Given the description of an element on the screen output the (x, y) to click on. 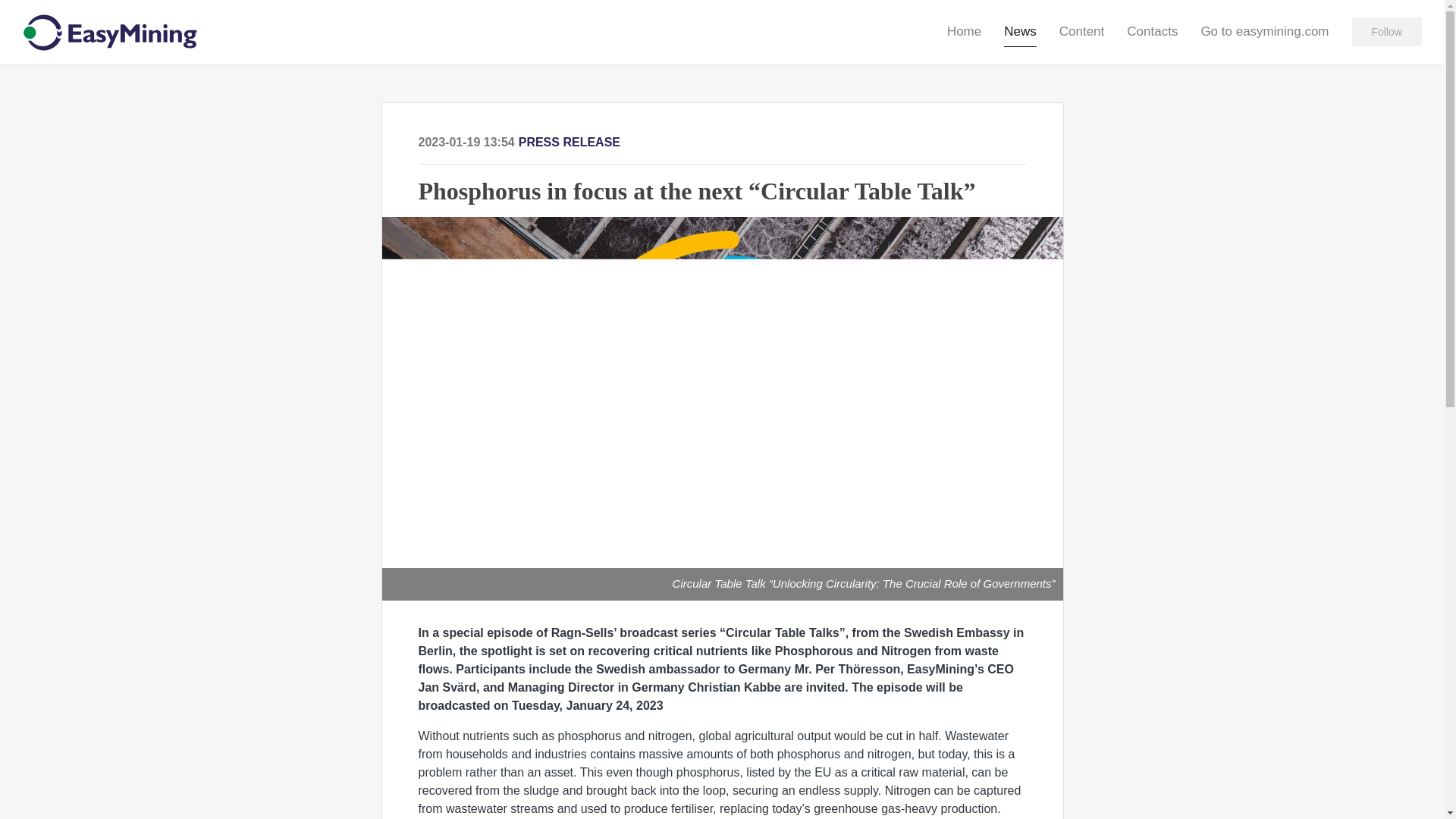
Home (964, 31)
Follow (1387, 31)
Contacts (1151, 31)
Content (1082, 31)
Go to easymining.com (1263, 31)
News (1020, 31)
